Given the description of an element on the screen output the (x, y) to click on. 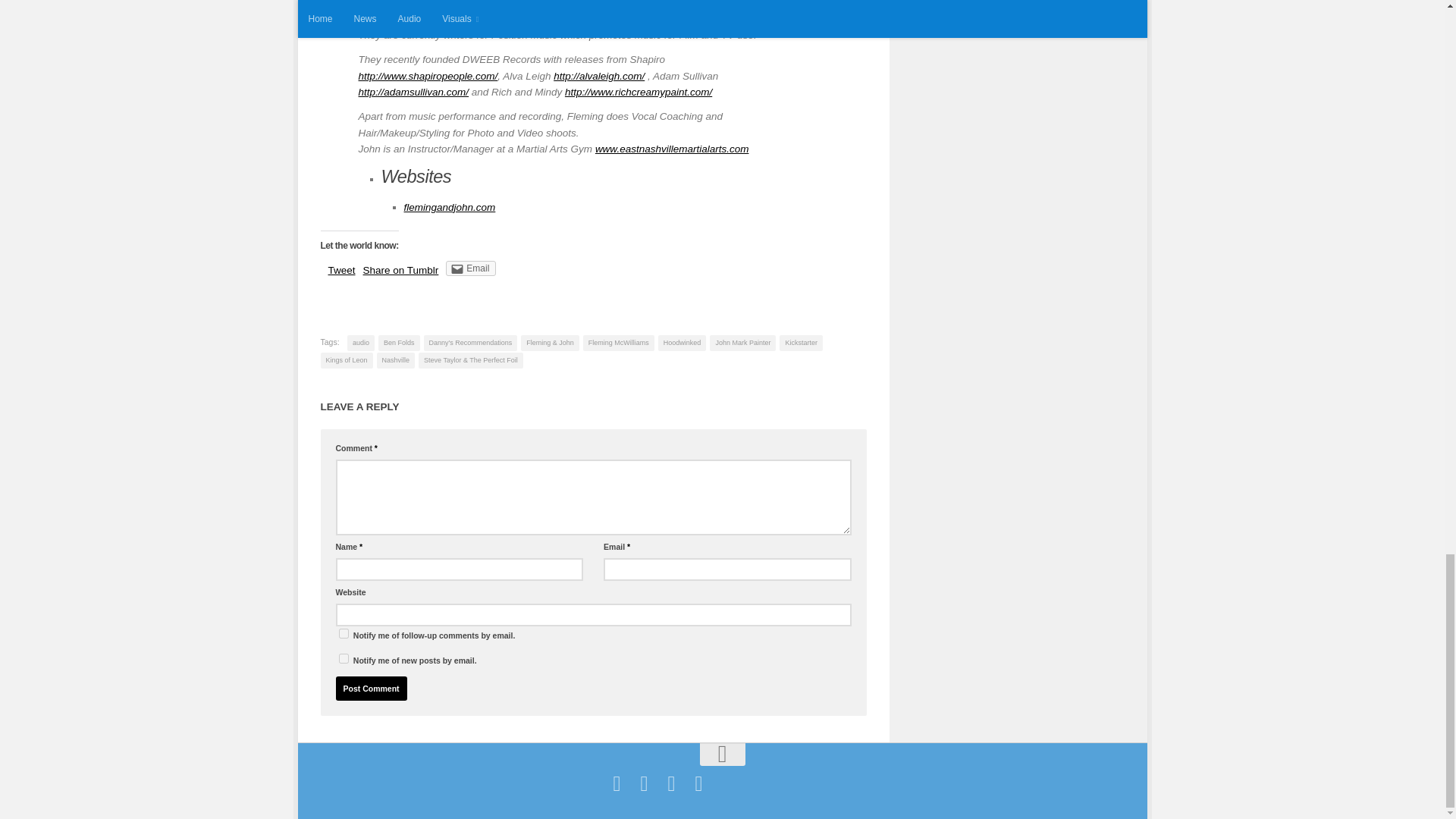
flemingandjohn.com (449, 206)
Share on Tumblr (400, 270)
Ben Folds (399, 342)
subscribe (342, 658)
Click to email a link to a friend (470, 268)
Email (470, 268)
subscribe (342, 633)
Share on Tumblr (400, 270)
www.eastnashvillemartialarts.com (672, 148)
Danny's Recommendations (470, 342)
